Given the description of an element on the screen output the (x, y) to click on. 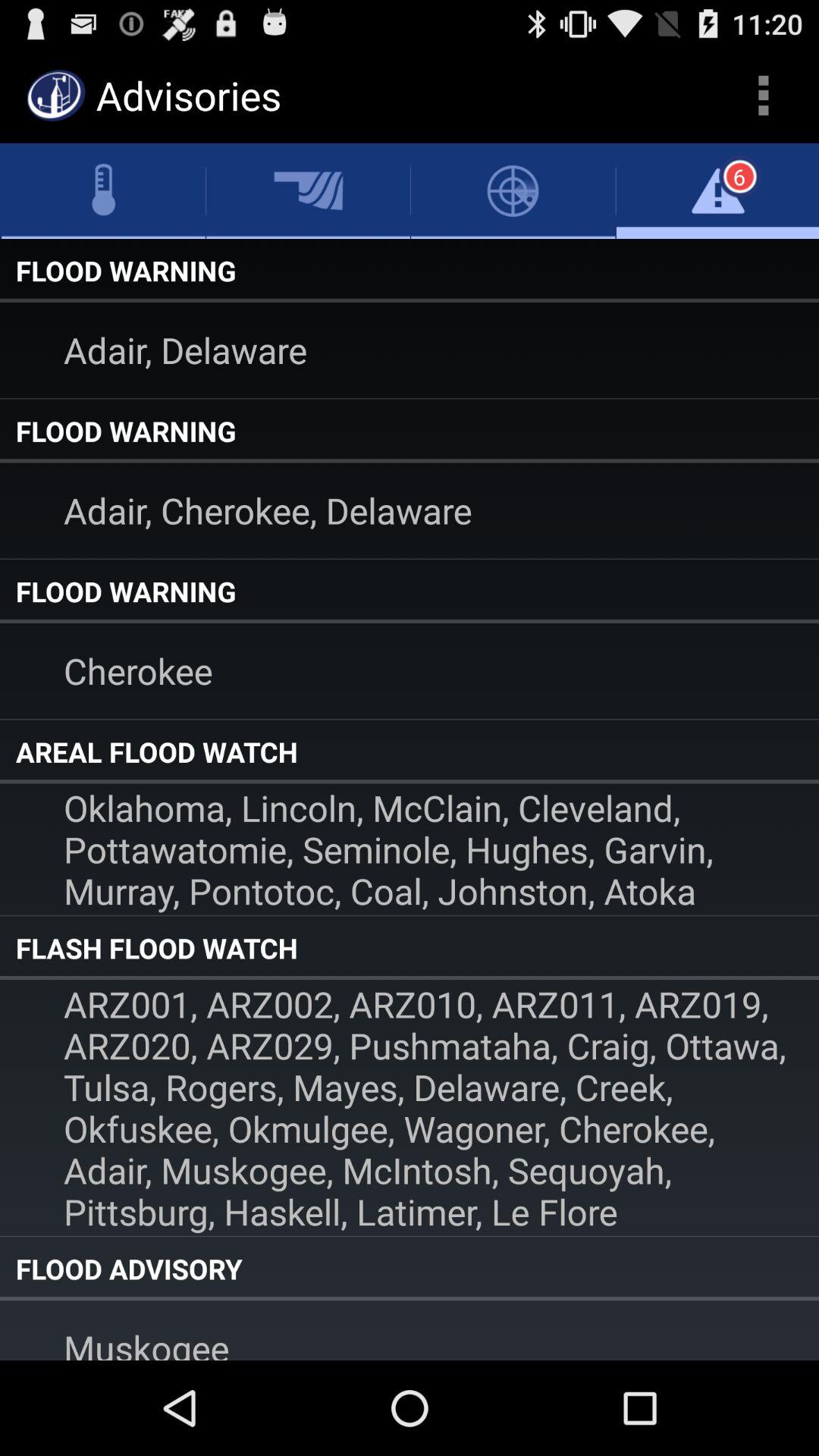
tap item above flash flood watch (409, 849)
